Given the description of an element on the screen output the (x, y) to click on. 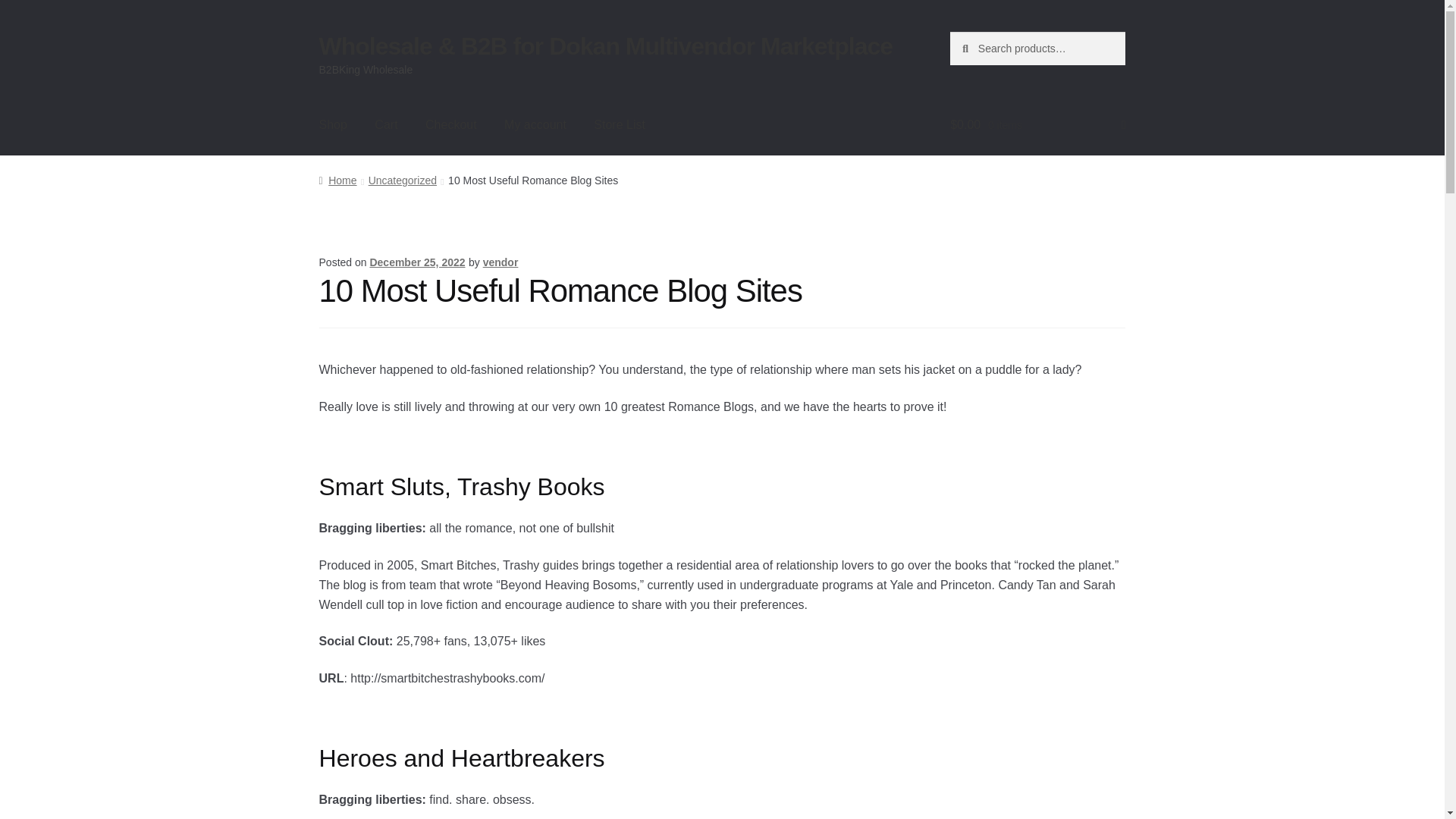
vendor (500, 262)
Uncategorized (402, 180)
My account (535, 124)
Home (337, 180)
View your shopping cart (1037, 124)
Checkout (451, 124)
December 25, 2022 (416, 262)
Store List (619, 124)
